Given the description of an element on the screen output the (x, y) to click on. 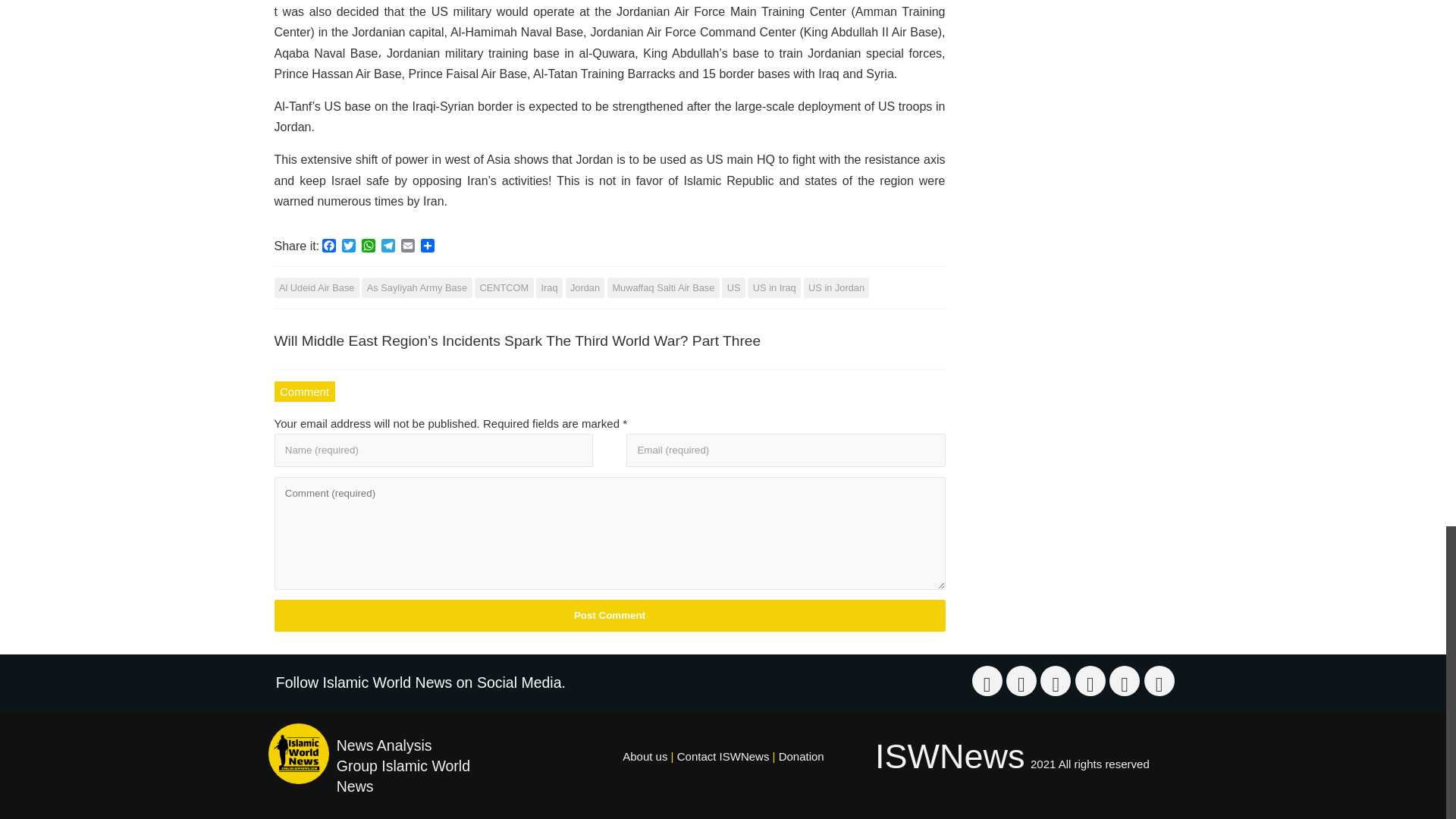
Post Comment (609, 615)
Twitter (348, 247)
Email (407, 247)
WhatsApp (368, 247)
Telegram (387, 247)
Facebook (328, 247)
